Given the description of an element on the screen output the (x, y) to click on. 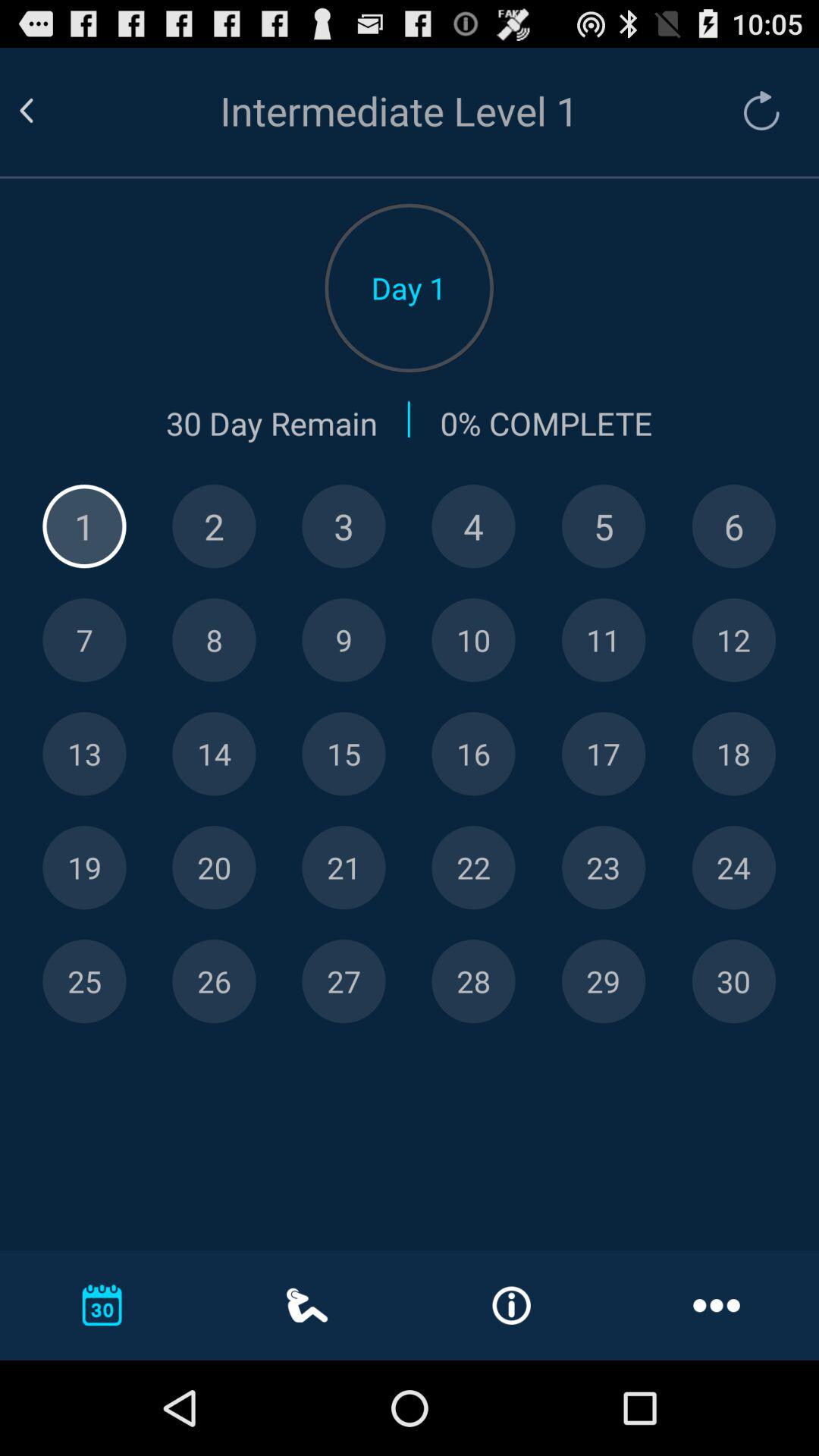
view day 17 (603, 753)
